Given the description of an element on the screen output the (x, y) to click on. 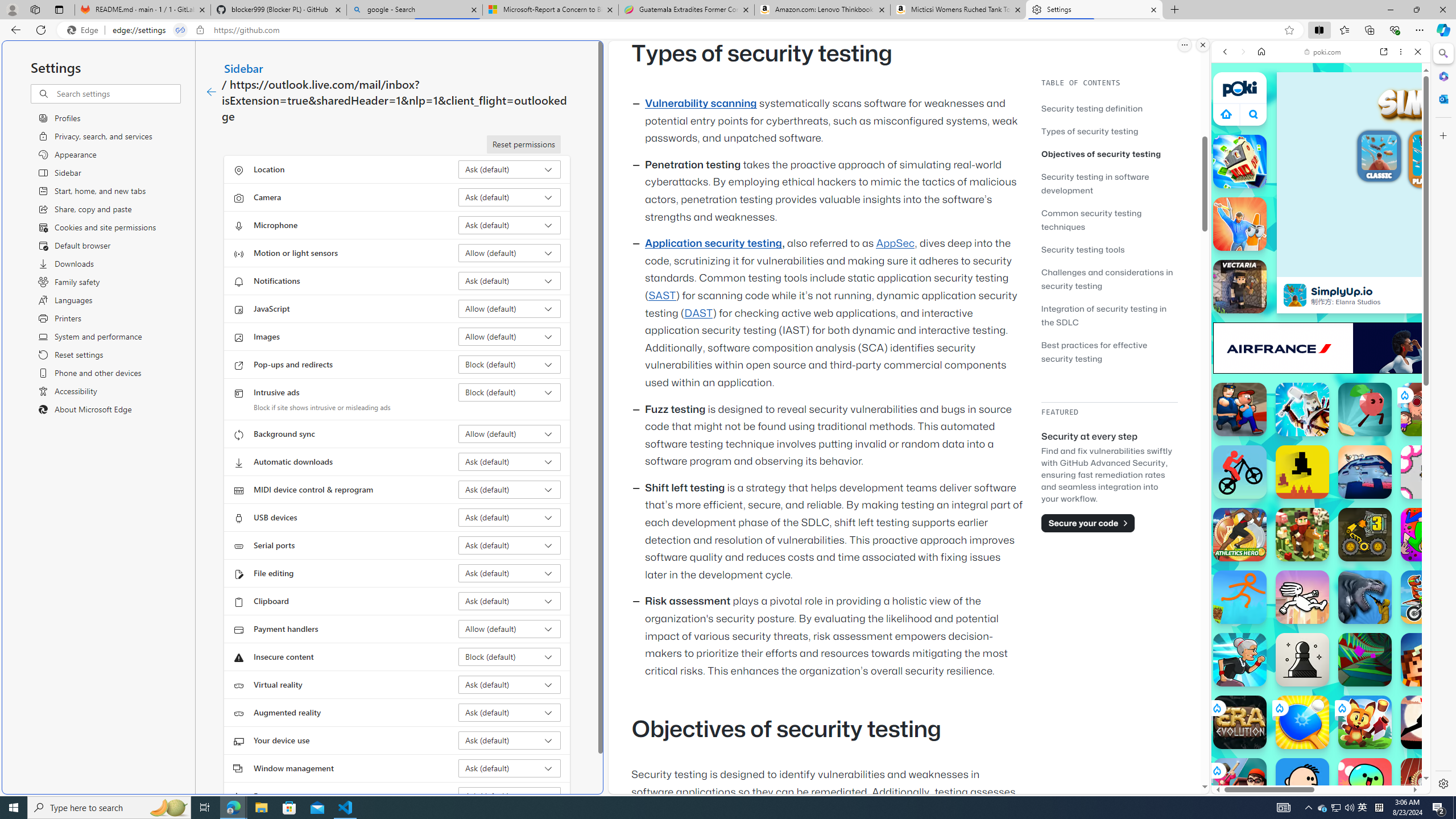
Your device use Ask (default) (509, 740)
Application security testing (713, 243)
100 Metres Race 100 Metres Race (1427, 784)
Fox Island Builder Fox Island Builder (1364, 722)
Integration of security testing in the SDLC (1104, 314)
Virtual reality Ask (default) (509, 684)
Show More Games for Girls (1390, 407)
Escape From School Escape From School (1239, 409)
Escape From School (1239, 409)
Challenges and considerations in security testing (1107, 278)
Era: Evolution Era: Evolution (1239, 722)
